Given the description of an element on the screen output the (x, y) to click on. 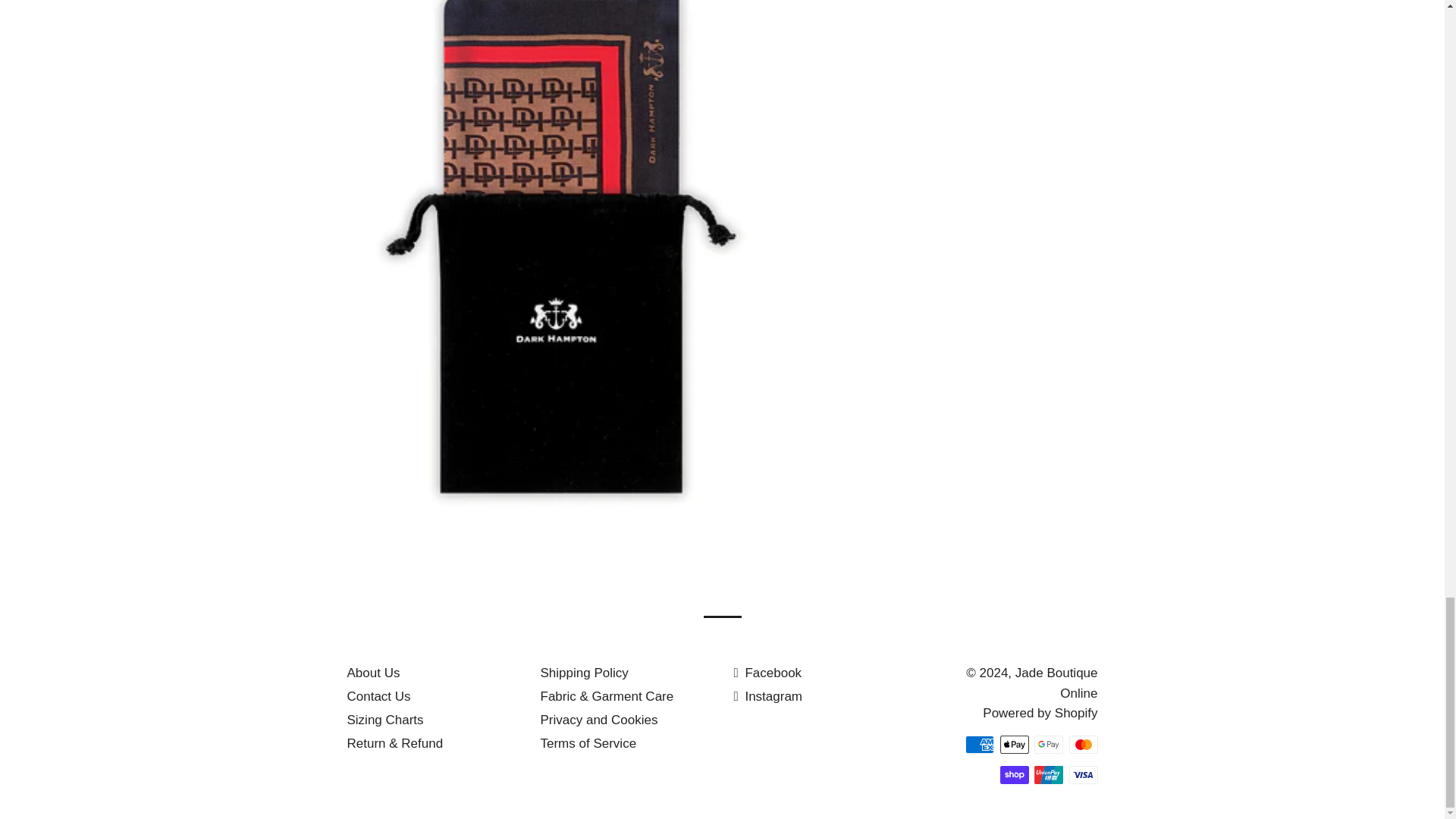
Union Pay (1047, 774)
Jade Boutique Online on Instagram (768, 696)
Jade Boutique Online on Facebook (767, 672)
American Express (979, 744)
Visa (1082, 774)
Mastercard (1082, 744)
Apple Pay (1012, 744)
Google Pay (1047, 744)
Shop Pay (1012, 774)
